Given the description of an element on the screen output the (x, y) to click on. 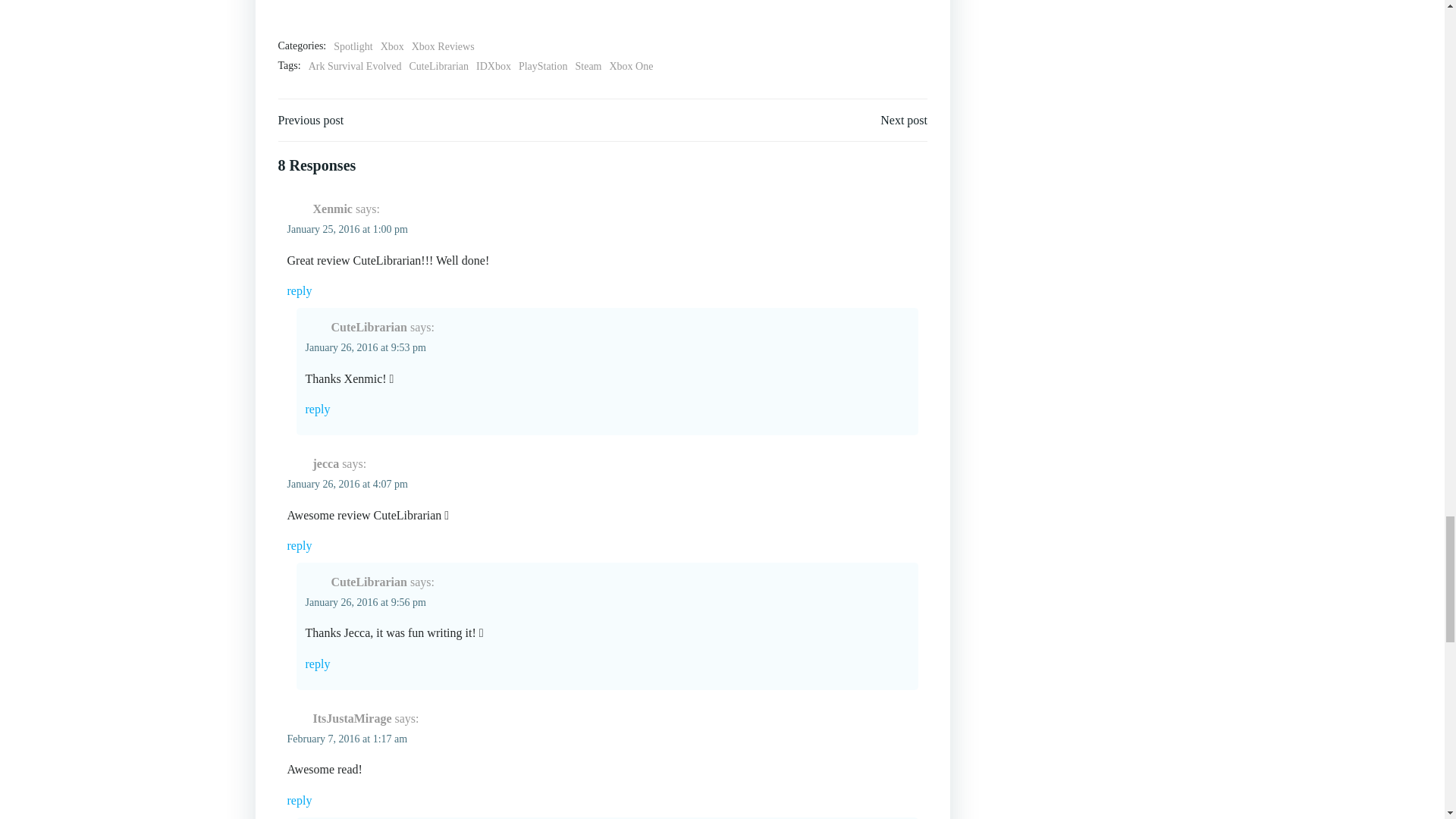
Ark Survival Evolved Tag (354, 66)
January 26, 2016 at 4:07 pm (346, 483)
IDXbox Tag (493, 66)
Xbox One (631, 66)
Steam Tag (588, 66)
Next post (903, 120)
Ark Survival Evolved (354, 66)
IDXbox (493, 66)
Spotlight (352, 46)
January 26, 2016 at 9:56 pm (364, 602)
